Given the description of an element on the screen output the (x, y) to click on. 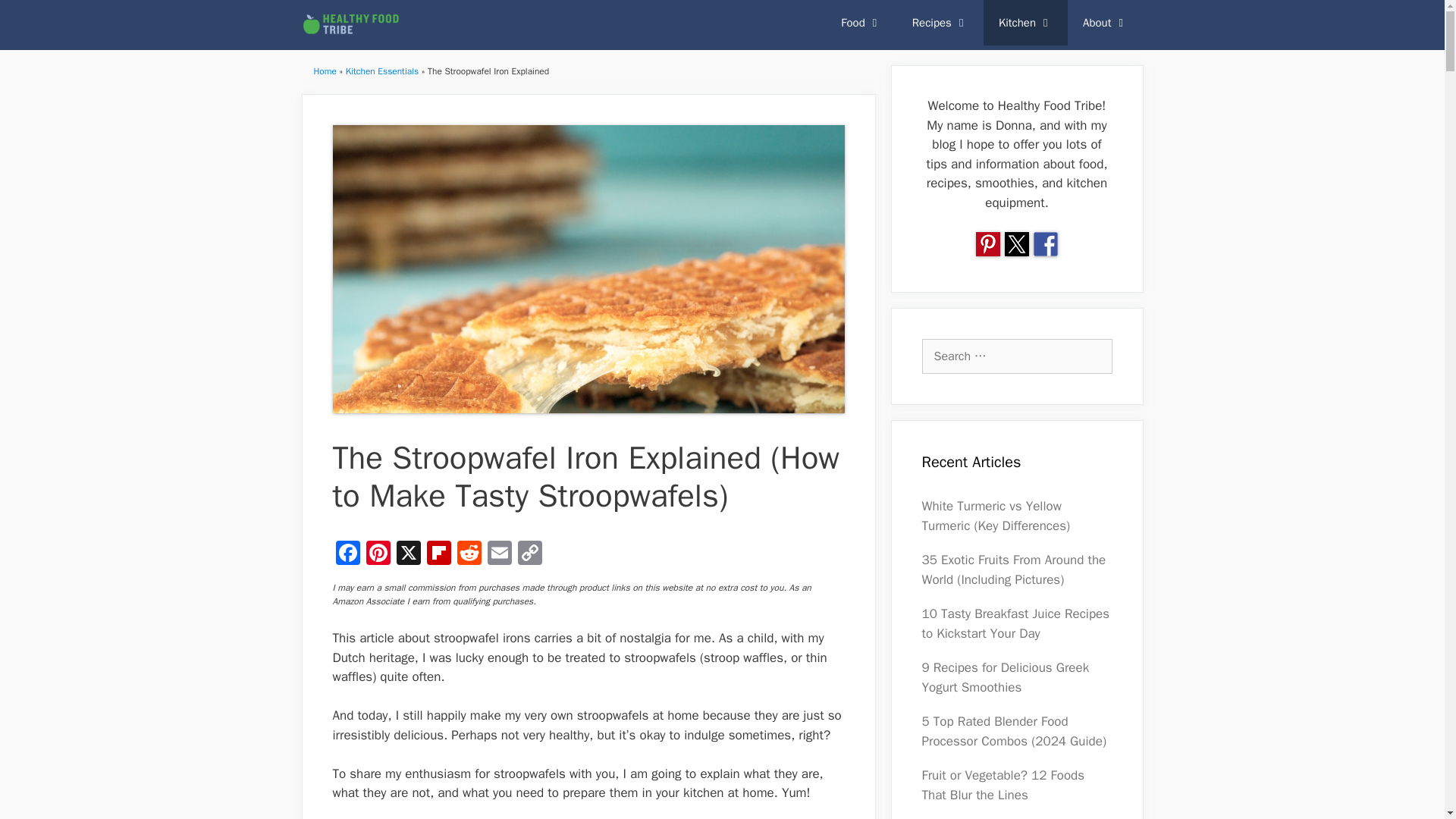
Kitchen (1025, 22)
Recipes (940, 22)
Reddit (467, 554)
Flipboard (437, 554)
Food (860, 22)
Pinterest (377, 554)
Recipes (940, 22)
Food (860, 22)
About (1104, 22)
Email (498, 554)
Pinterest (377, 554)
Copy Link (528, 554)
X (408, 554)
Facebook (346, 554)
Flipboard (437, 554)
